Given the description of an element on the screen output the (x, y) to click on. 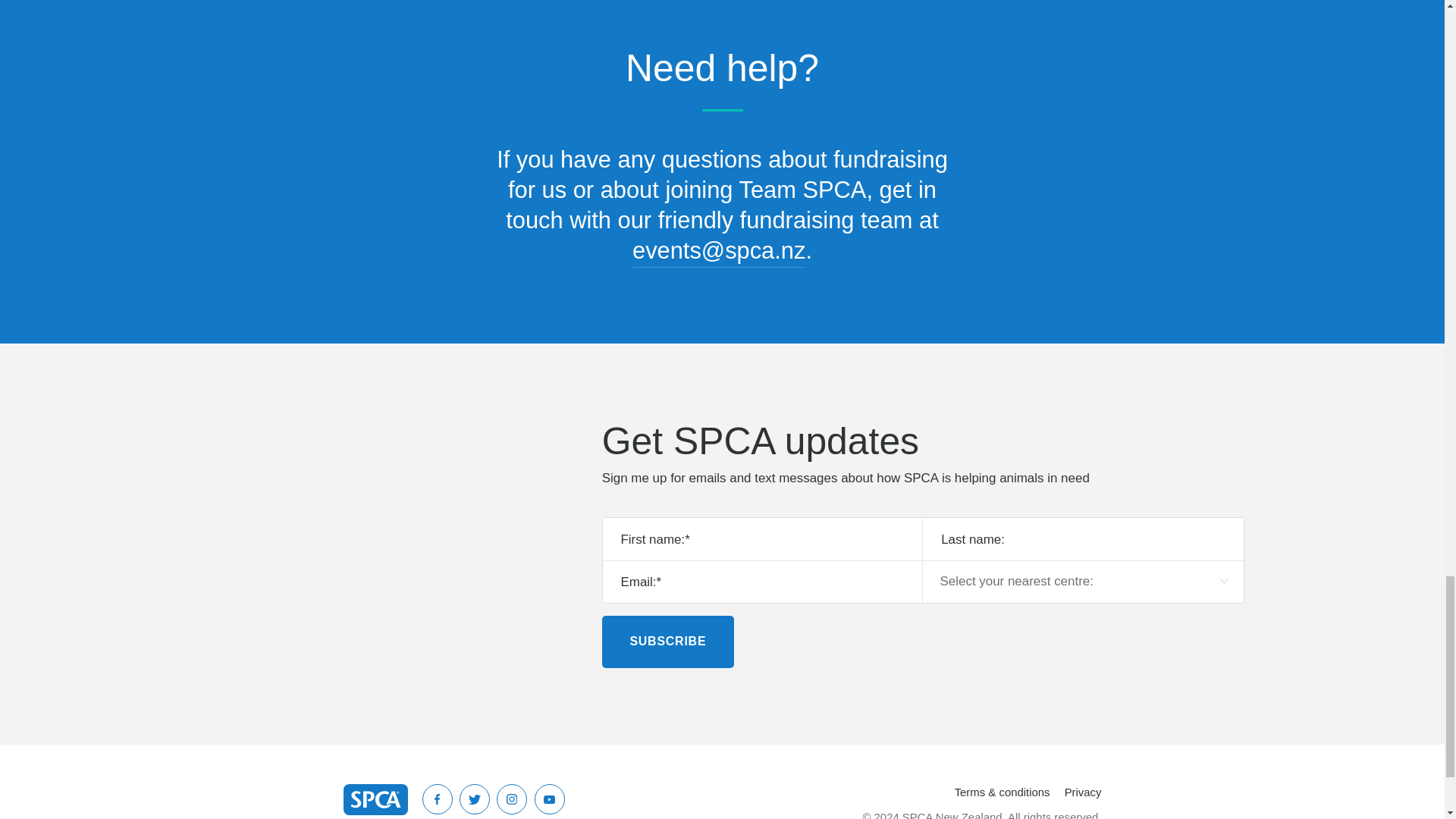
Subscribe (667, 641)
